Given the description of an element on the screen output the (x, y) to click on. 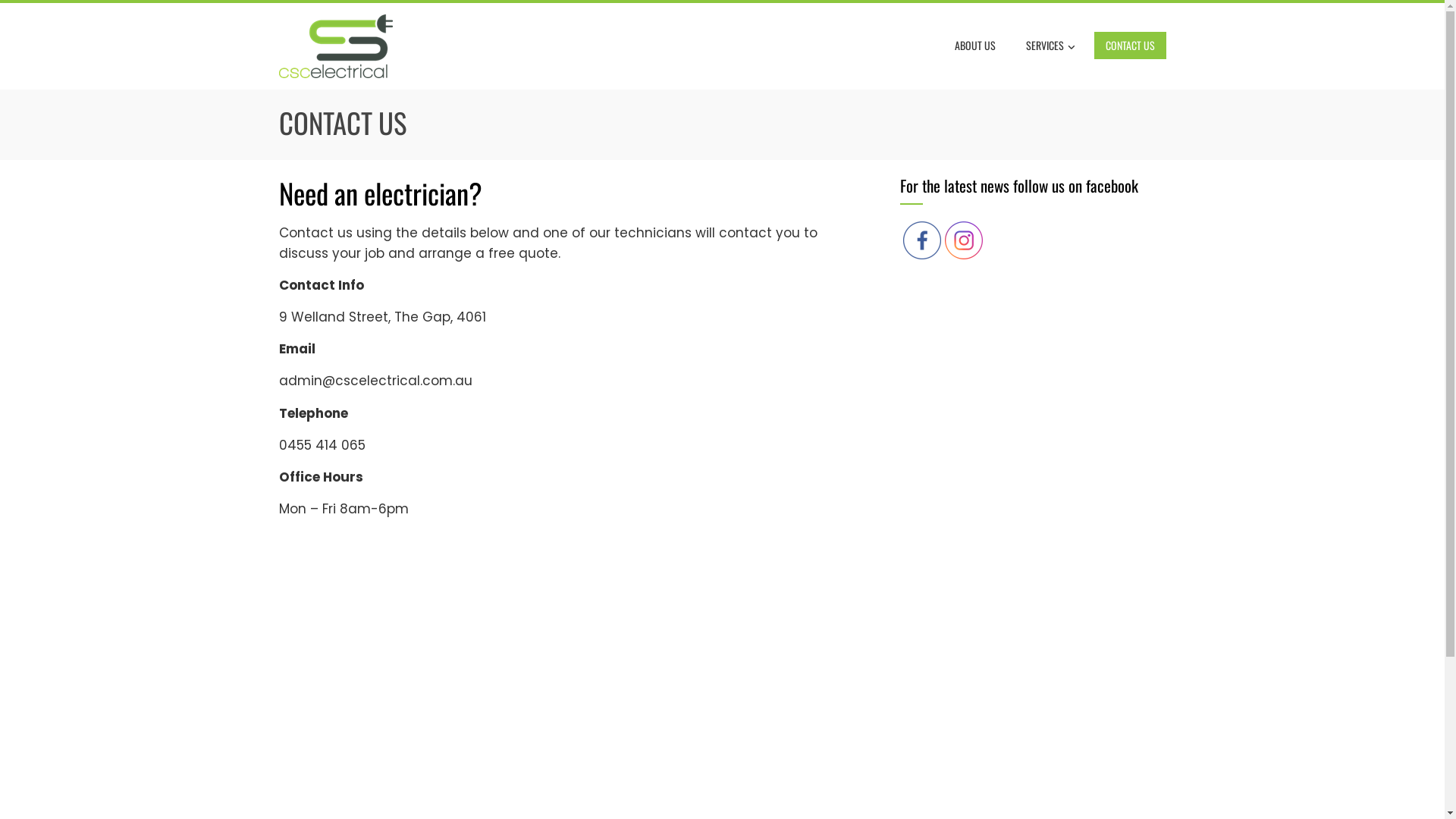
Instagram Element type: hover (963, 240)
CONTACT US Element type: text (1129, 45)
ABOUT US Element type: text (975, 45)
SERVICES Element type: text (1050, 45)
Facebook Element type: hover (921, 240)
